Given the description of an element on the screen output the (x, y) to click on. 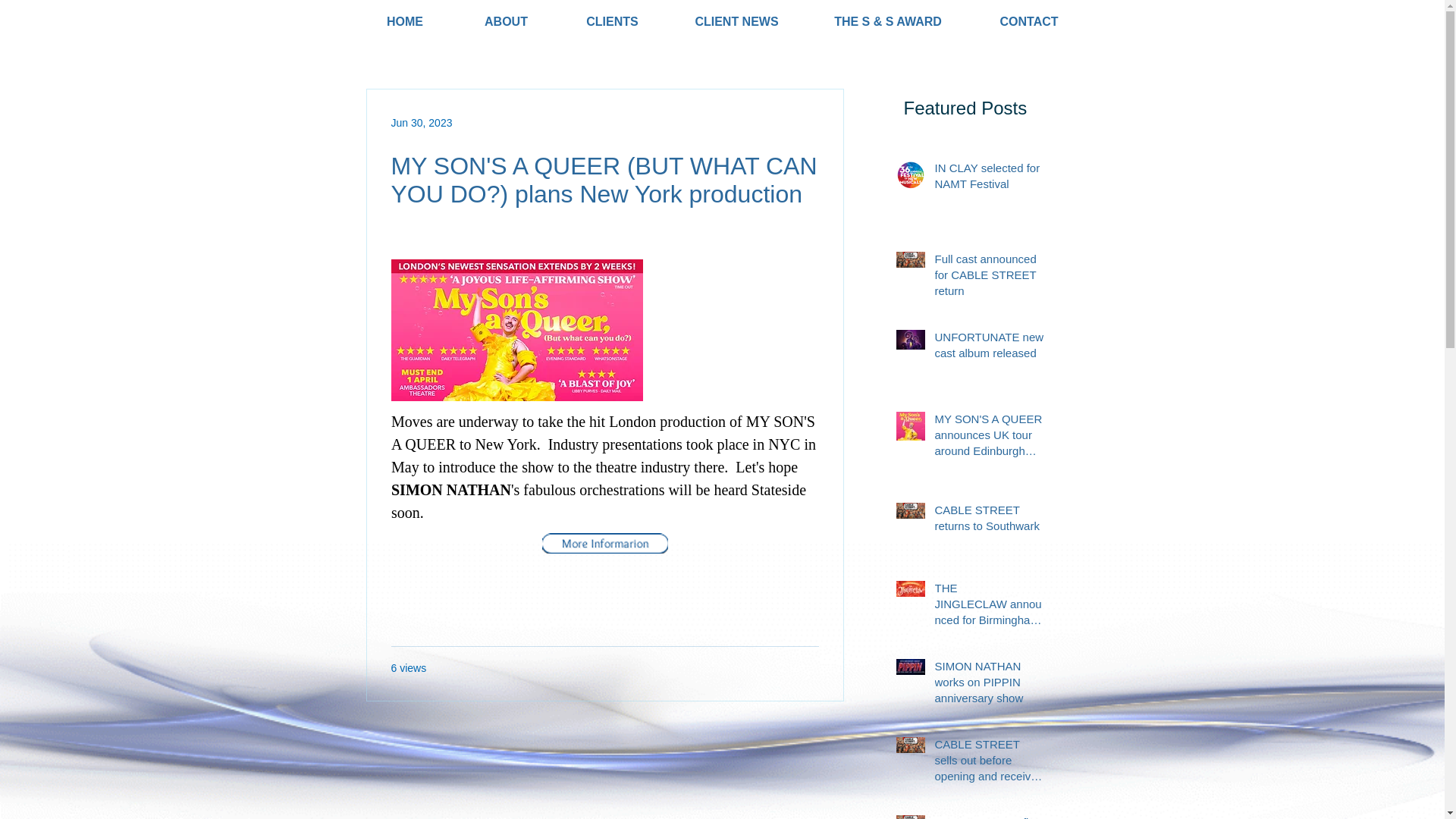
IN CLAY selected for NAMT Festival (988, 178)
SIMON NATHAN works on PIPPIN anniversary show (988, 684)
HOME (405, 21)
CLIENTS (612, 21)
CLIENT NEWS (736, 21)
CABLE STREET returns to Southwark (988, 520)
UNFORTUNATE new cast album released (988, 347)
ABOUT (505, 21)
SIMON NATHAN (451, 489)
